Given the description of an element on the screen output the (x, y) to click on. 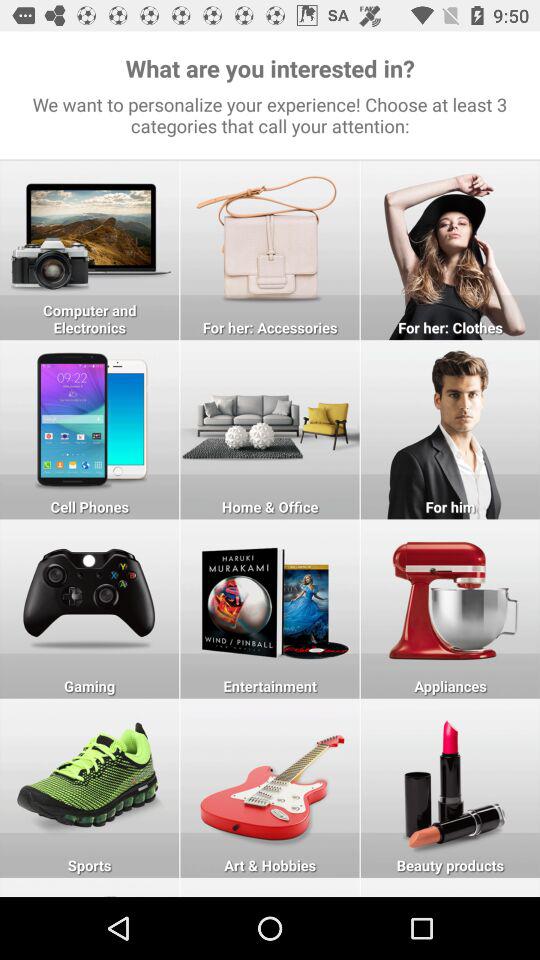
image for click (450, 429)
